Given the description of an element on the screen output the (x, y) to click on. 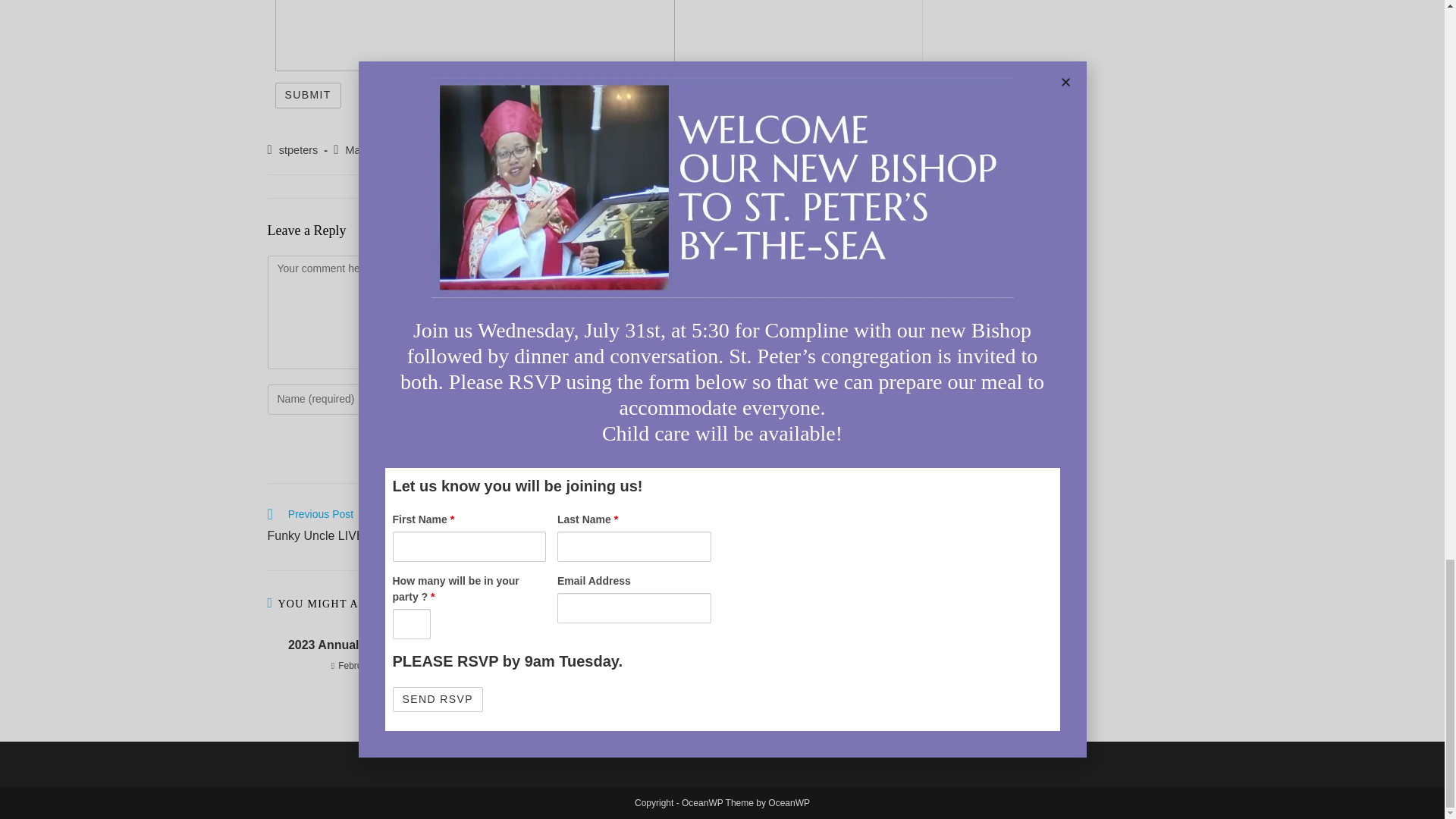
Post Comment (840, 444)
Submit (307, 95)
Posts by stpeters (298, 150)
